Given the description of an element on the screen output the (x, y) to click on. 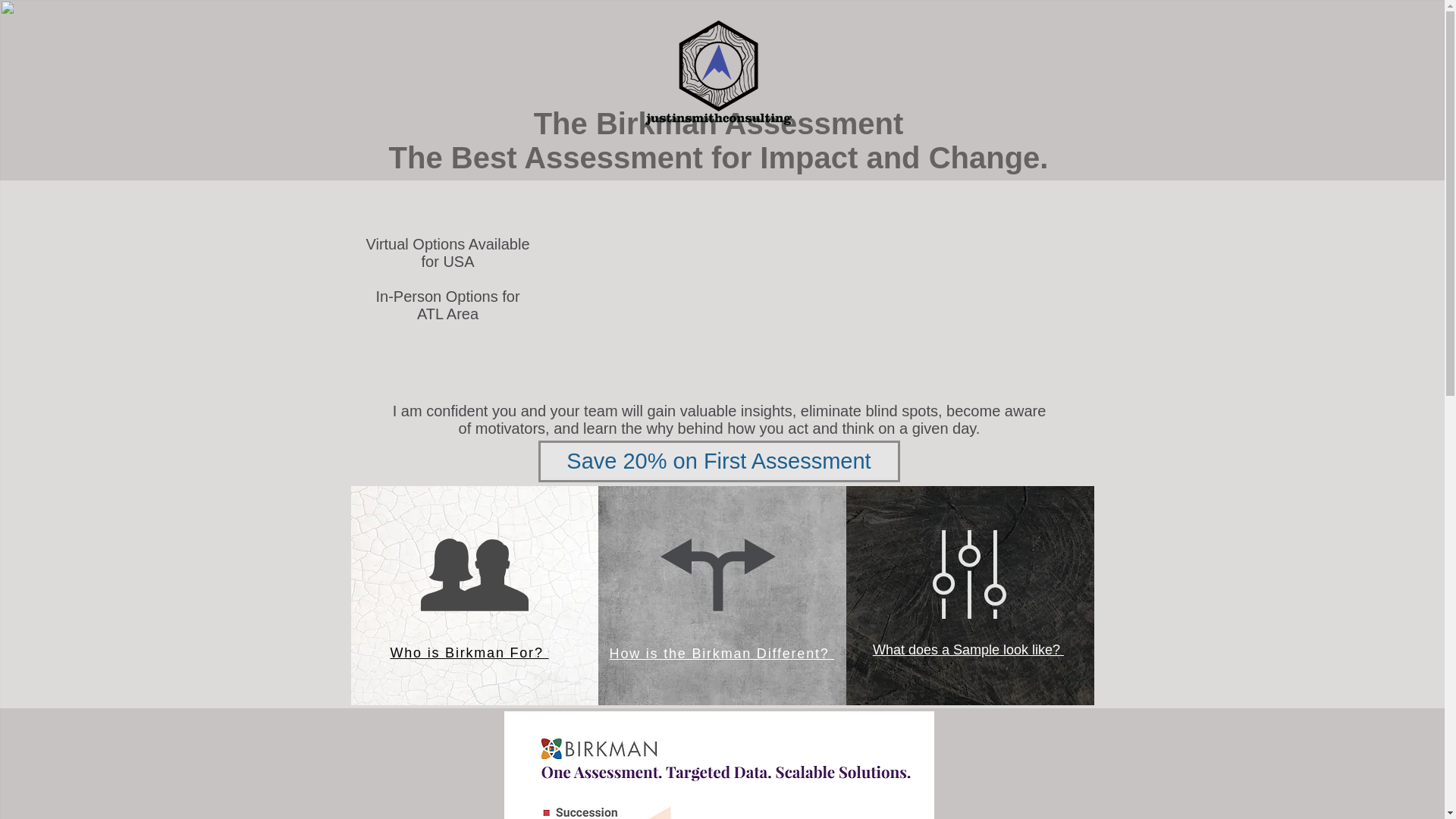
Who is Birkman For?  (469, 652)
What does a Sample look like?  (968, 649)
How is the Birkman Different?  (722, 653)
